Given the description of an element on the screen output the (x, y) to click on. 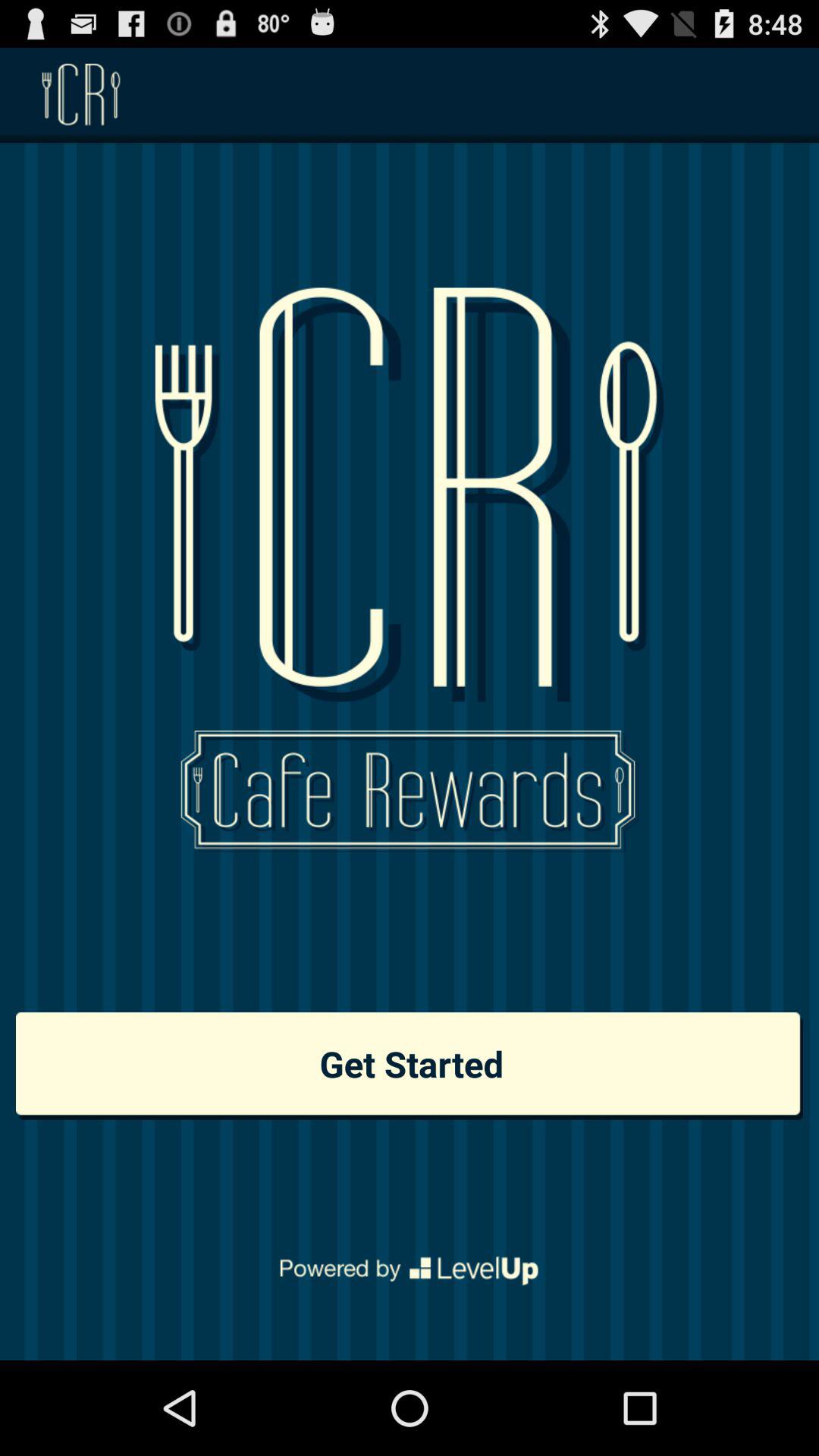
turn on the get started (409, 1065)
